Given the description of an element on the screen output the (x, y) to click on. 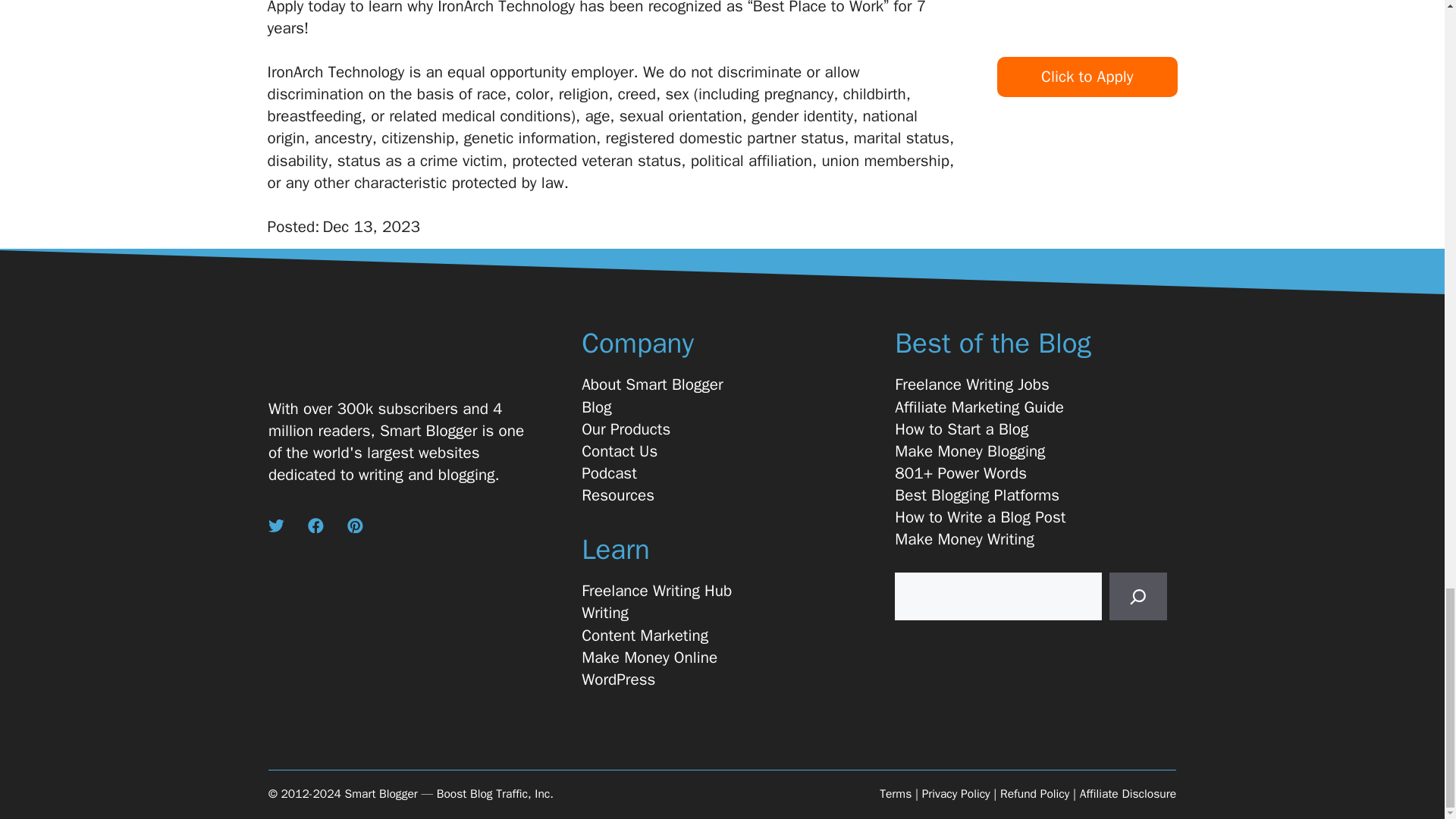
How to Start a Blog (961, 429)
Freelance Writing Jobs (972, 384)
Affiliate Marketing Guide (979, 407)
How to Write a Blog Post (980, 517)
Blog (595, 407)
Best Blogging Platforms (977, 495)
Content Marketing (643, 635)
Resources (616, 495)
Make Money Blogging (970, 451)
Our Products (624, 429)
Writing (604, 612)
About Smart Blogger (651, 384)
Freelance Writing Hub (656, 590)
Contact Us (619, 451)
Make Money Online (648, 658)
